Given the description of an element on the screen output the (x, y) to click on. 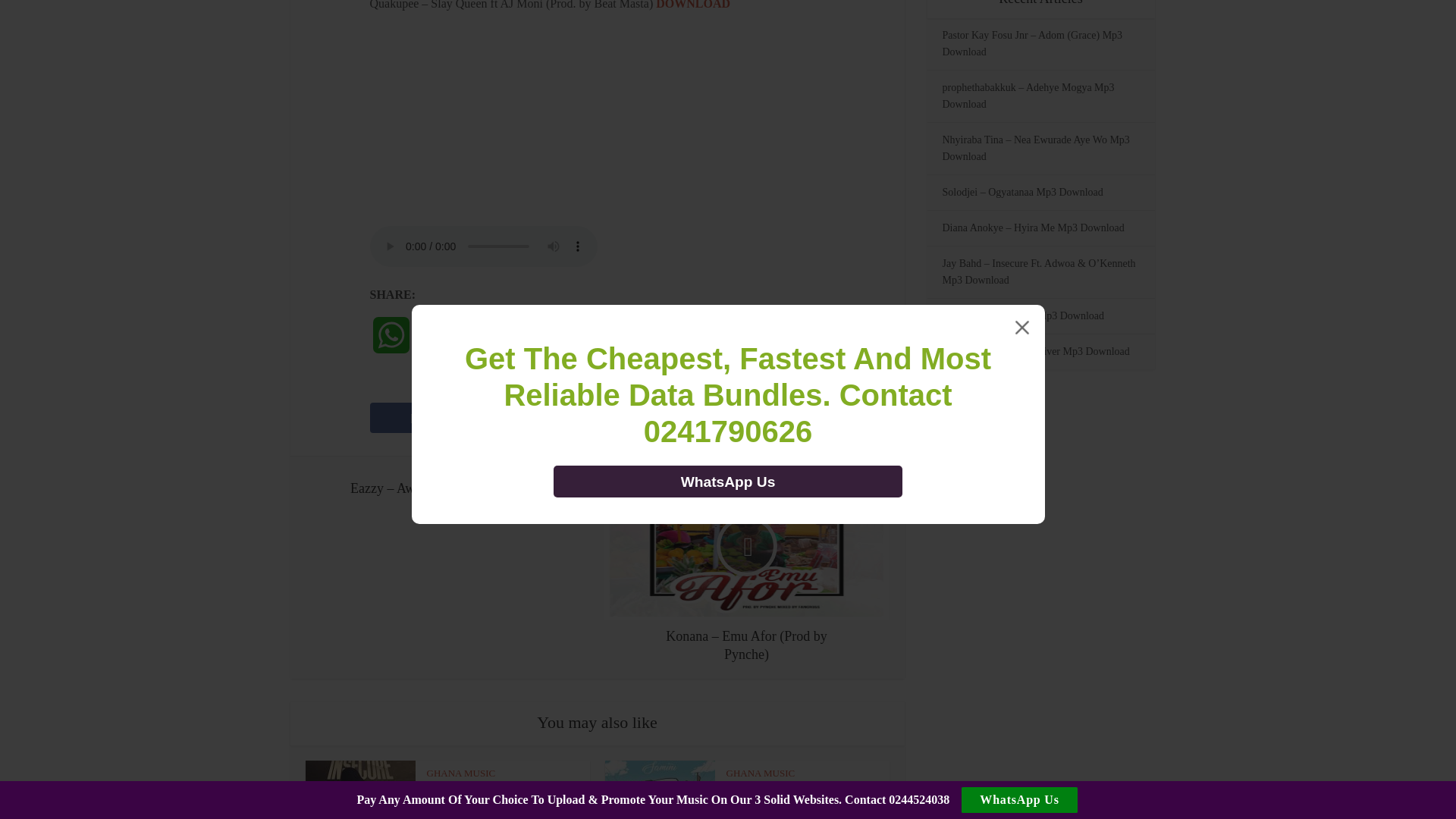
DOWNLOAD (693, 4)
